Given the description of an element on the screen output the (x, y) to click on. 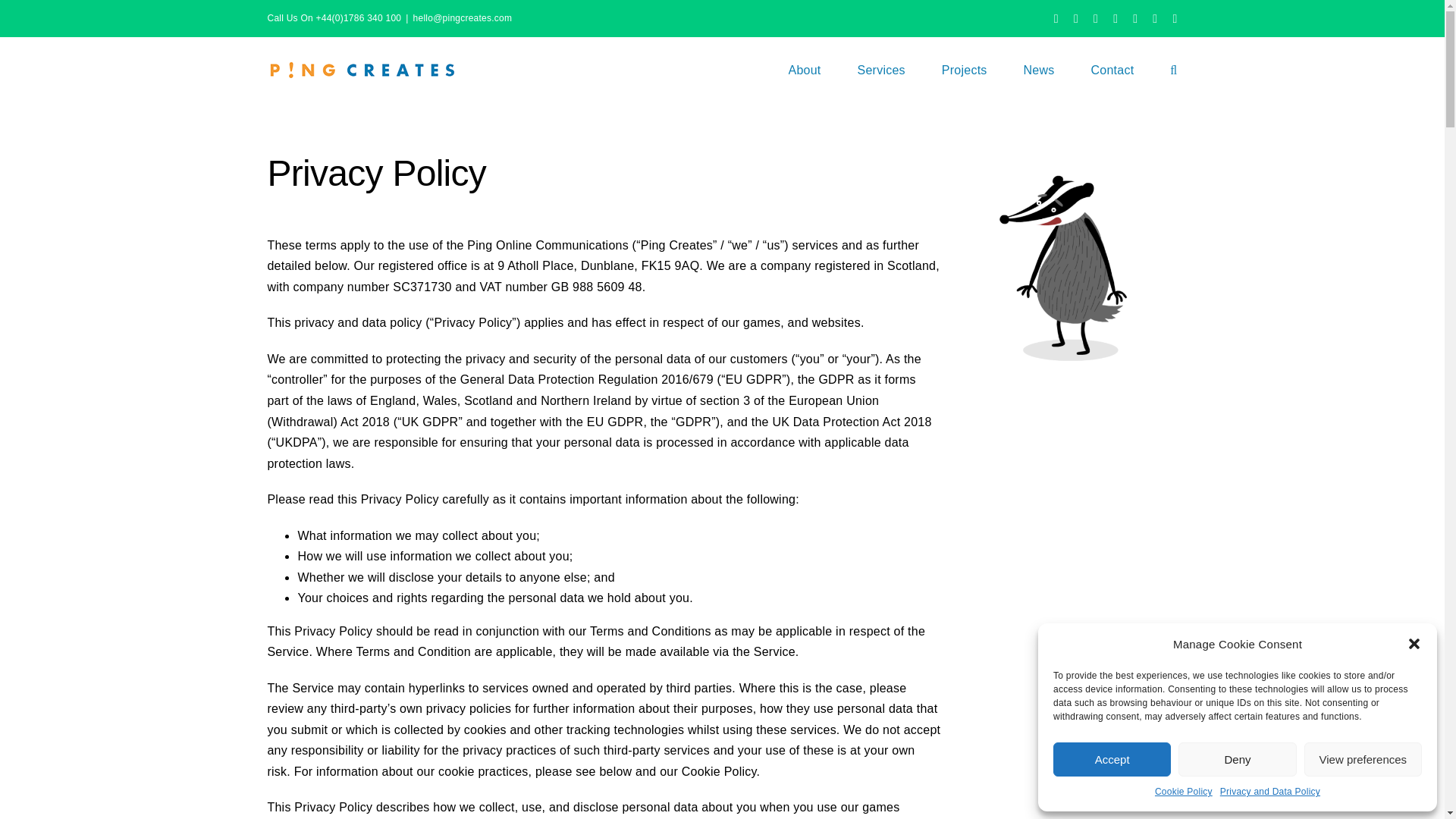
Privacy and Data Policy (1270, 791)
Deny (1236, 759)
View preferences (1363, 759)
Accept (1111, 759)
Cookie Policy (1183, 791)
